Given the description of an element on the screen output the (x, y) to click on. 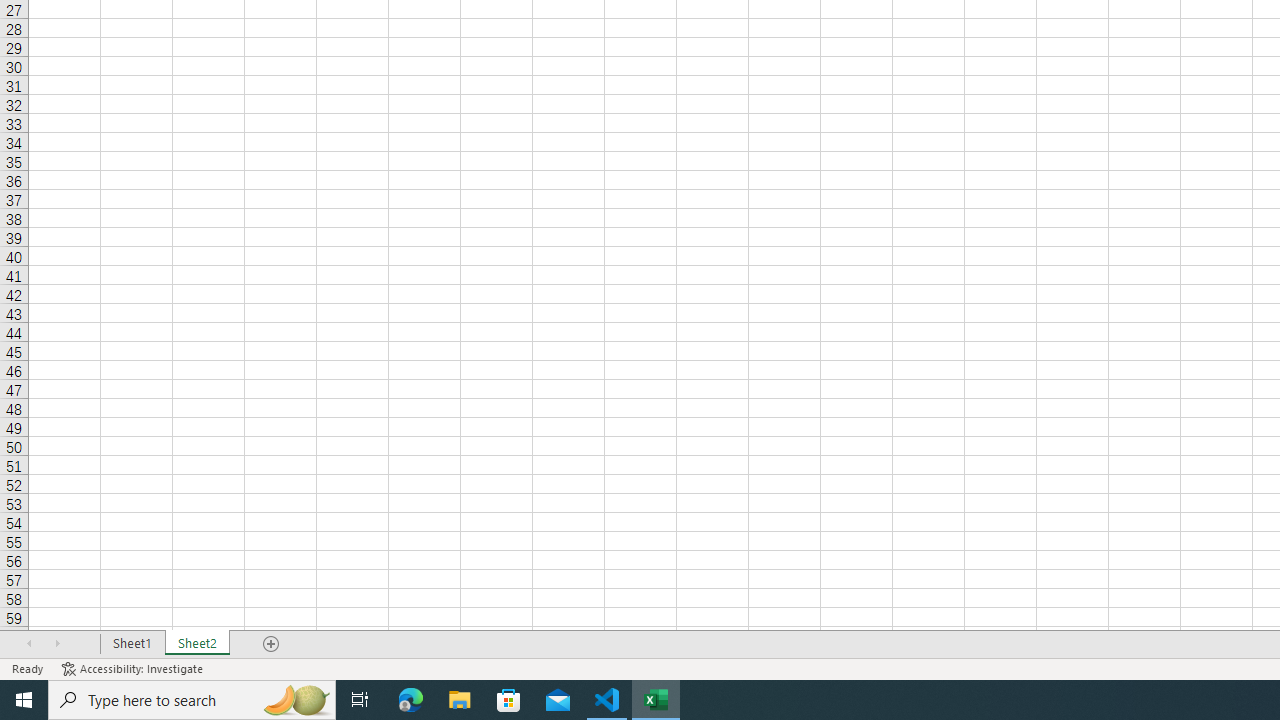
Add Sheet (271, 644)
Sheet2 (197, 644)
Scroll Right (57, 644)
Sheet1 (132, 644)
Scroll Left (29, 644)
Accessibility Checker Accessibility: Investigate (134, 668)
